Given the description of an element on the screen output the (x, y) to click on. 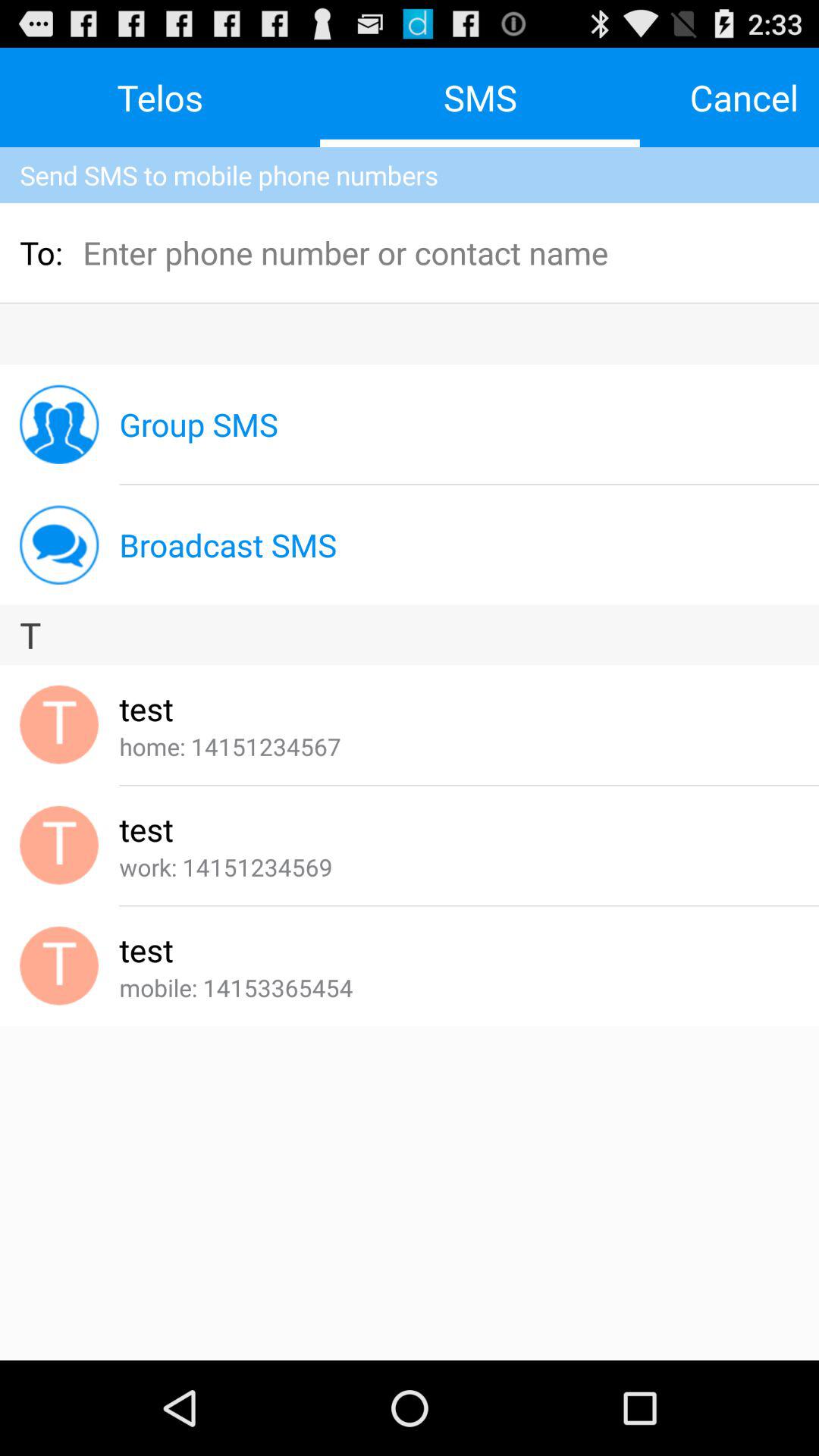
turn off the icon to the right of the sms icon (743, 97)
